Given the description of an element on the screen output the (x, y) to click on. 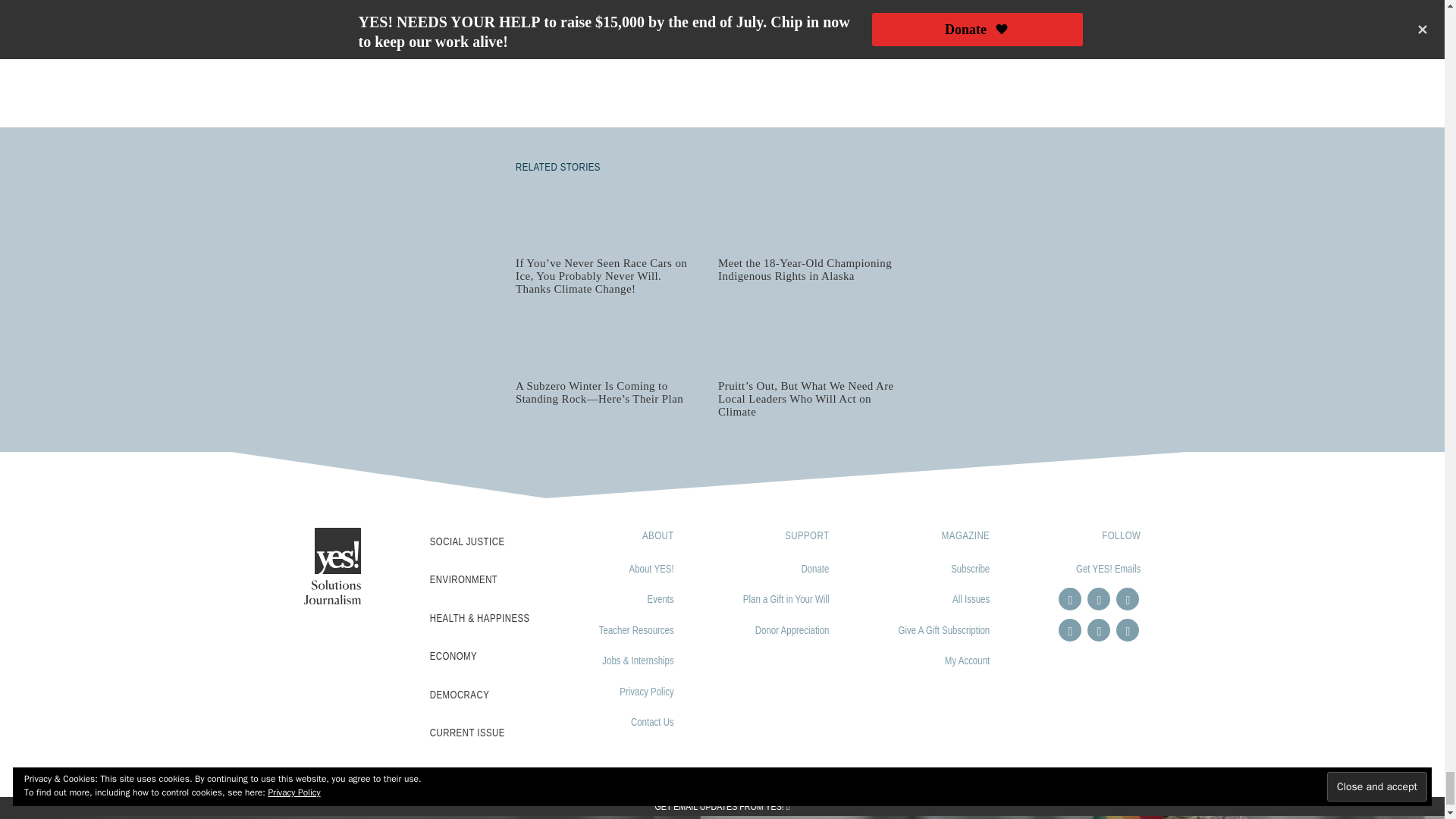
Submit (847, 28)
